Given the description of an element on the screen output the (x, y) to click on. 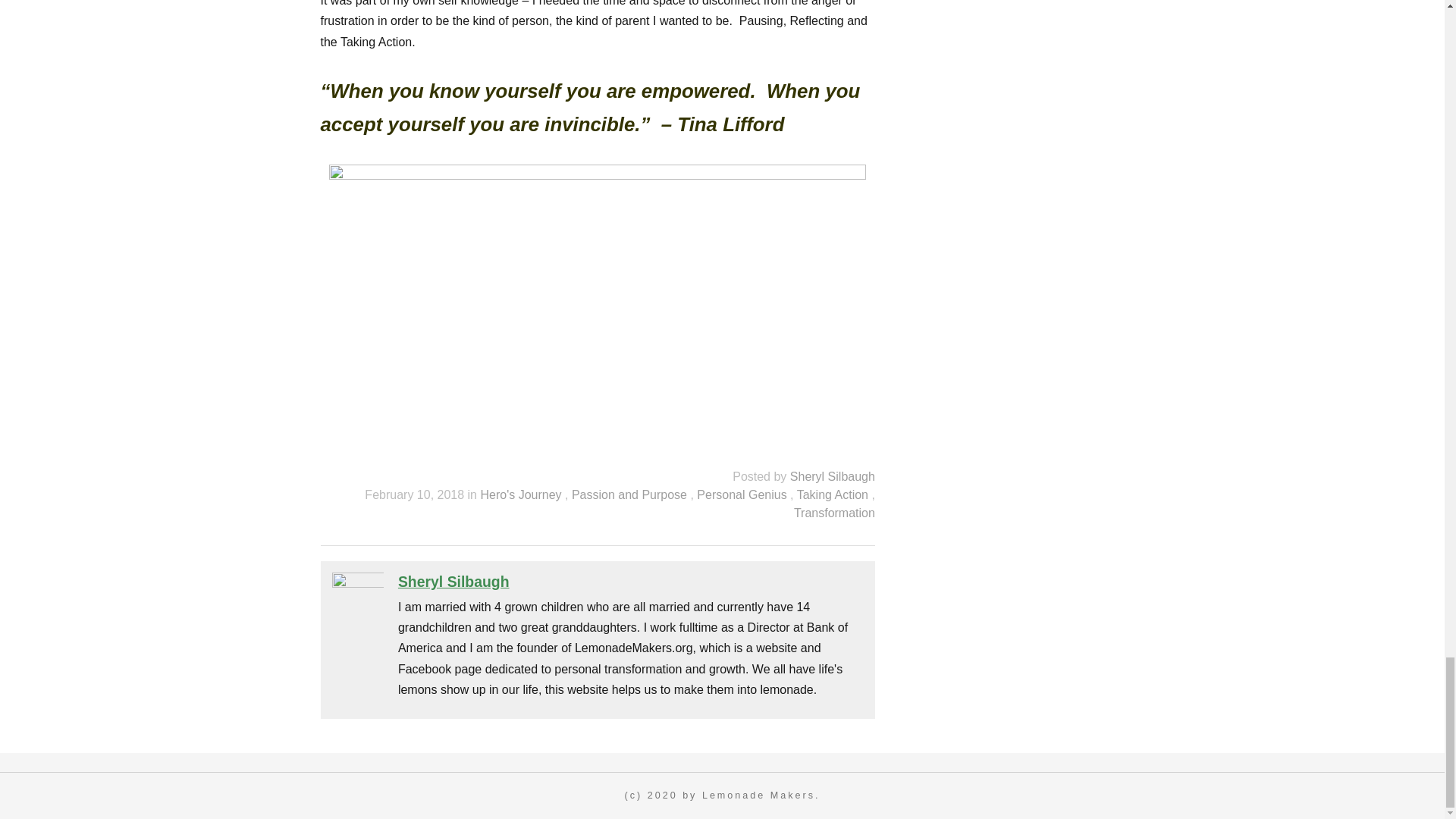
Sheryl Silbaugh (832, 476)
Passion and Purpose (631, 494)
Sheryl Silbaugh (453, 581)
Hero's Journey (522, 494)
Personal Genius (743, 494)
Transformation (834, 512)
Taking Action (834, 494)
